Given the description of an element on the screen output the (x, y) to click on. 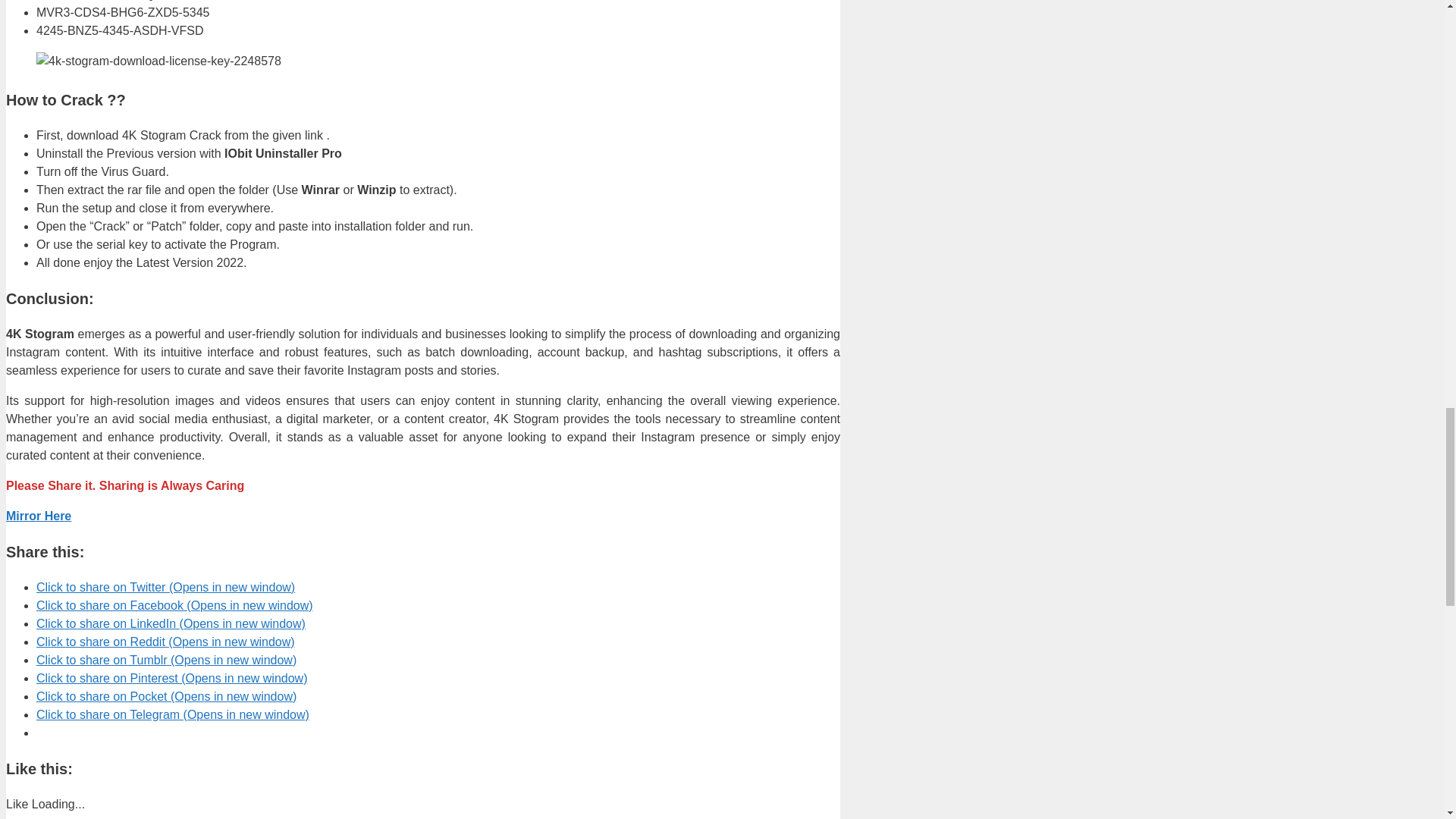
Click to share on Facebook (174, 604)
Click to share on LinkedIn (170, 623)
Click to share on Pocket (166, 696)
Click to share on Tumblr (166, 659)
Click to share on Reddit (165, 641)
Mirror Here (38, 515)
4K Stogram Download License Key (158, 61)
Click to share on Pinterest (171, 677)
Click to share on Twitter (165, 586)
Click to share on Telegram (172, 714)
